Given the description of an element on the screen output the (x, y) to click on. 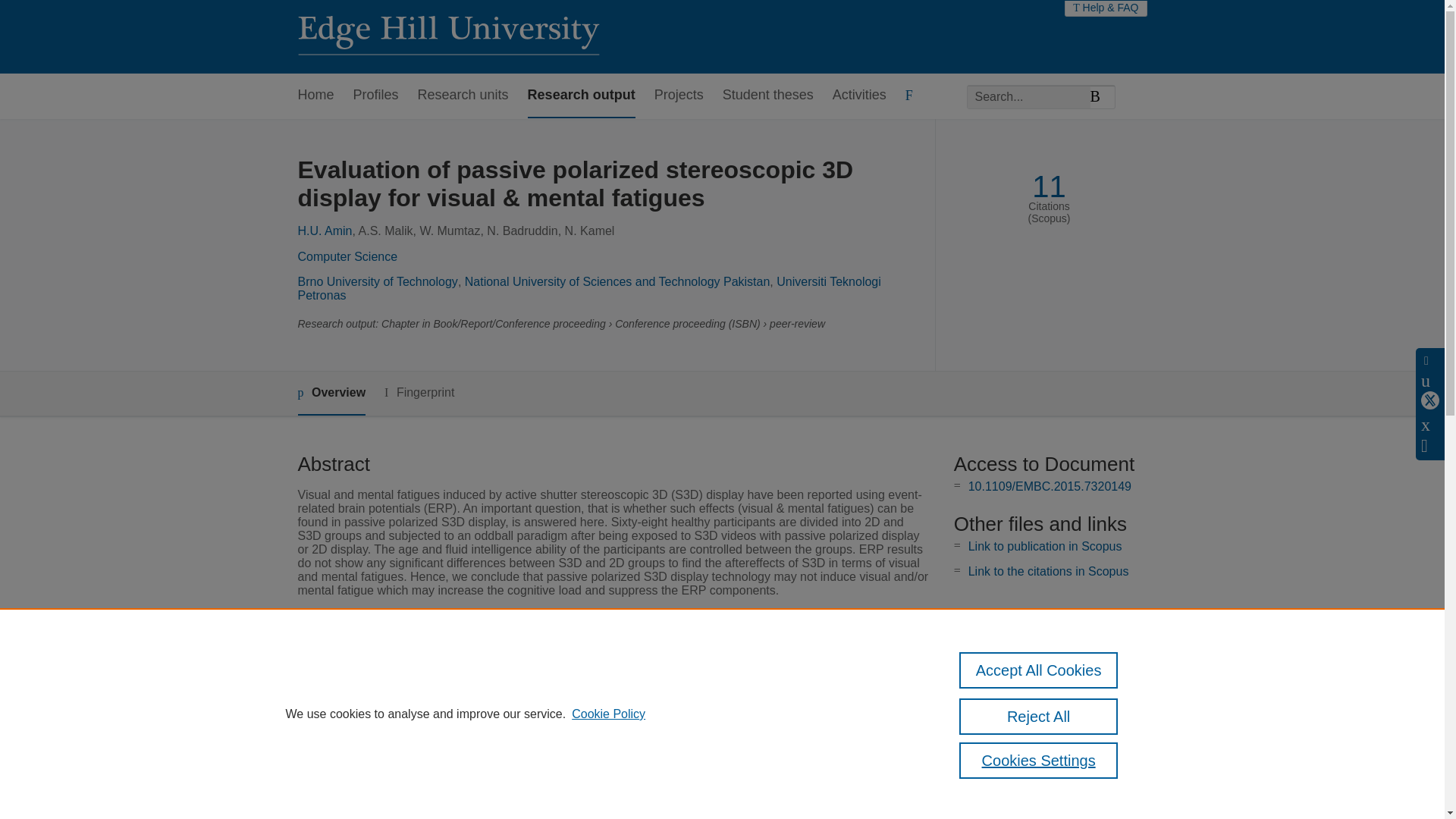
Edge Hill University Home (447, 36)
Projects (678, 95)
Computer Science (347, 256)
Activities (859, 95)
IEEE (526, 676)
Universiti Teknologi Petronas (588, 288)
Student theses (767, 95)
Profiles (375, 95)
Overview (331, 393)
H.U. Amin (324, 230)
